Given the description of an element on the screen output the (x, y) to click on. 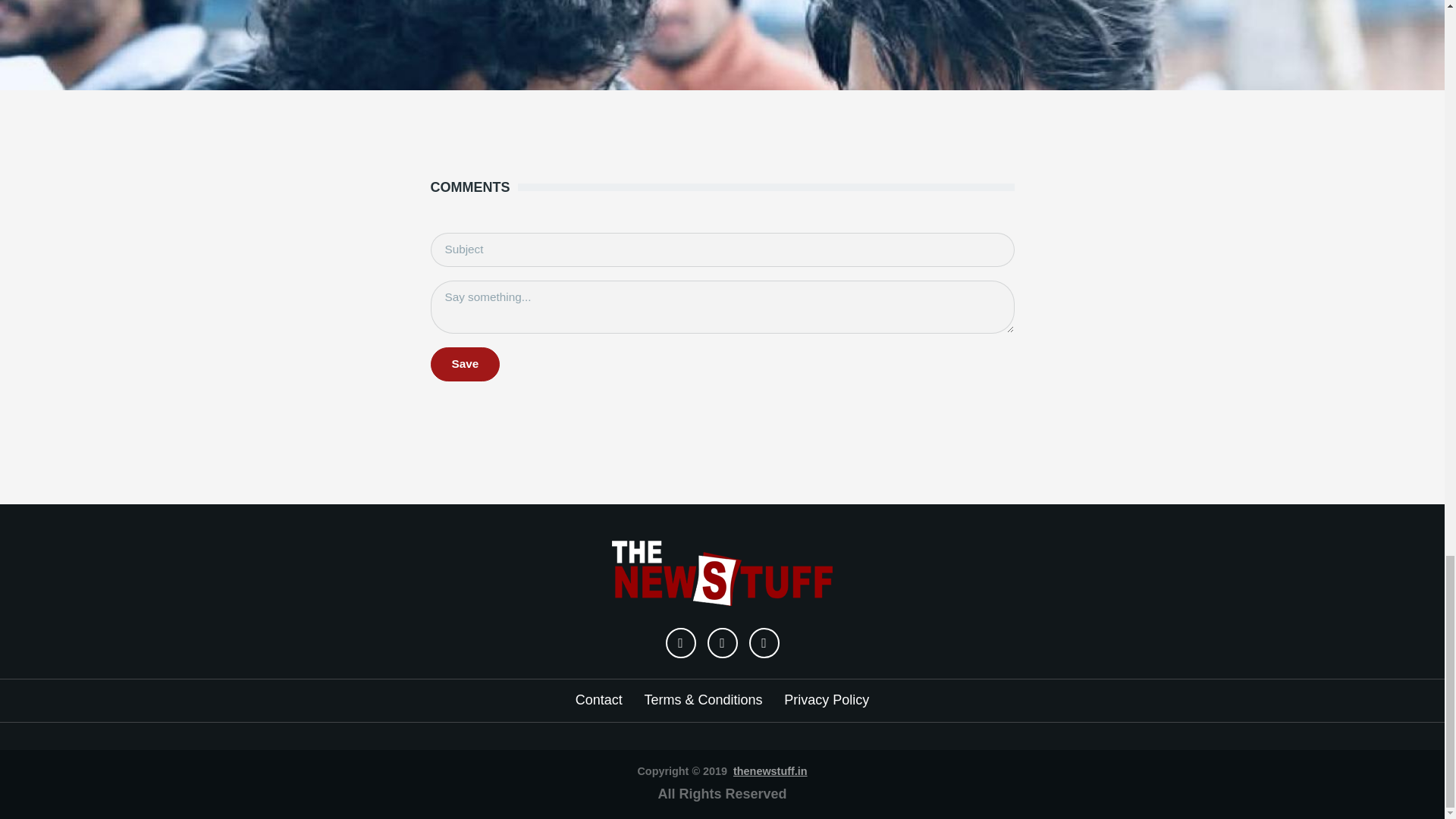
Home (721, 569)
Save (465, 364)
